Given the description of an element on the screen output the (x, y) to click on. 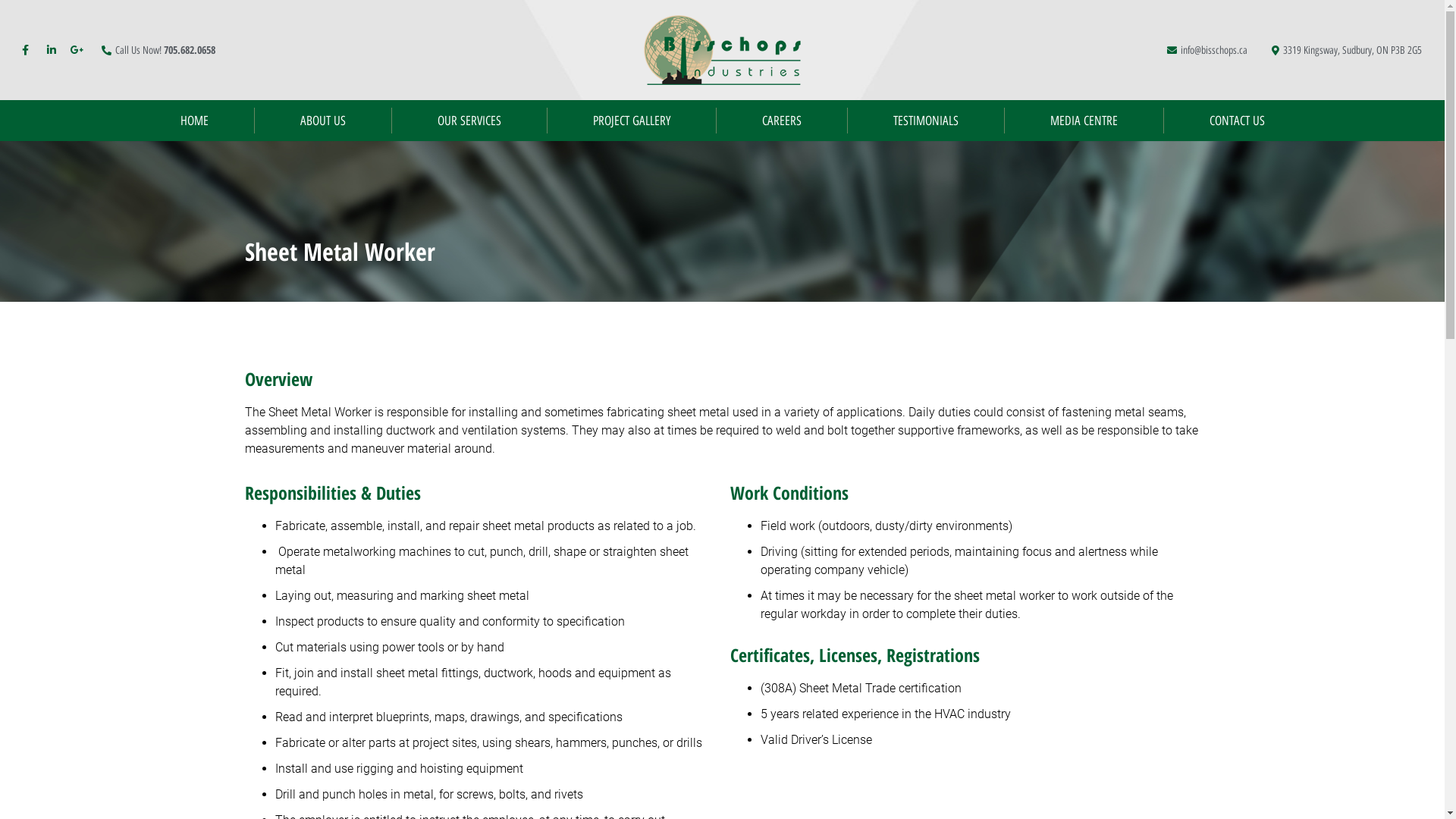
MEDIA CENTRE Element type: text (1083, 120)
PROJECT GALLERY Element type: text (631, 120)
HOME Element type: text (194, 120)
CONTACT US Element type: text (1236, 120)
Call Us Now! 705.682.0658 Element type: text (156, 49)
CAREERS Element type: text (780, 120)
Sheet Metal Worker Element type: text (721, 251)
OUR SERVICES Element type: text (468, 120)
info@bisschops.ca Element type: text (1205, 50)
TESTIMONIALS Element type: text (925, 120)
ABOUT US Element type: text (322, 120)
